Given the description of an element on the screen output the (x, y) to click on. 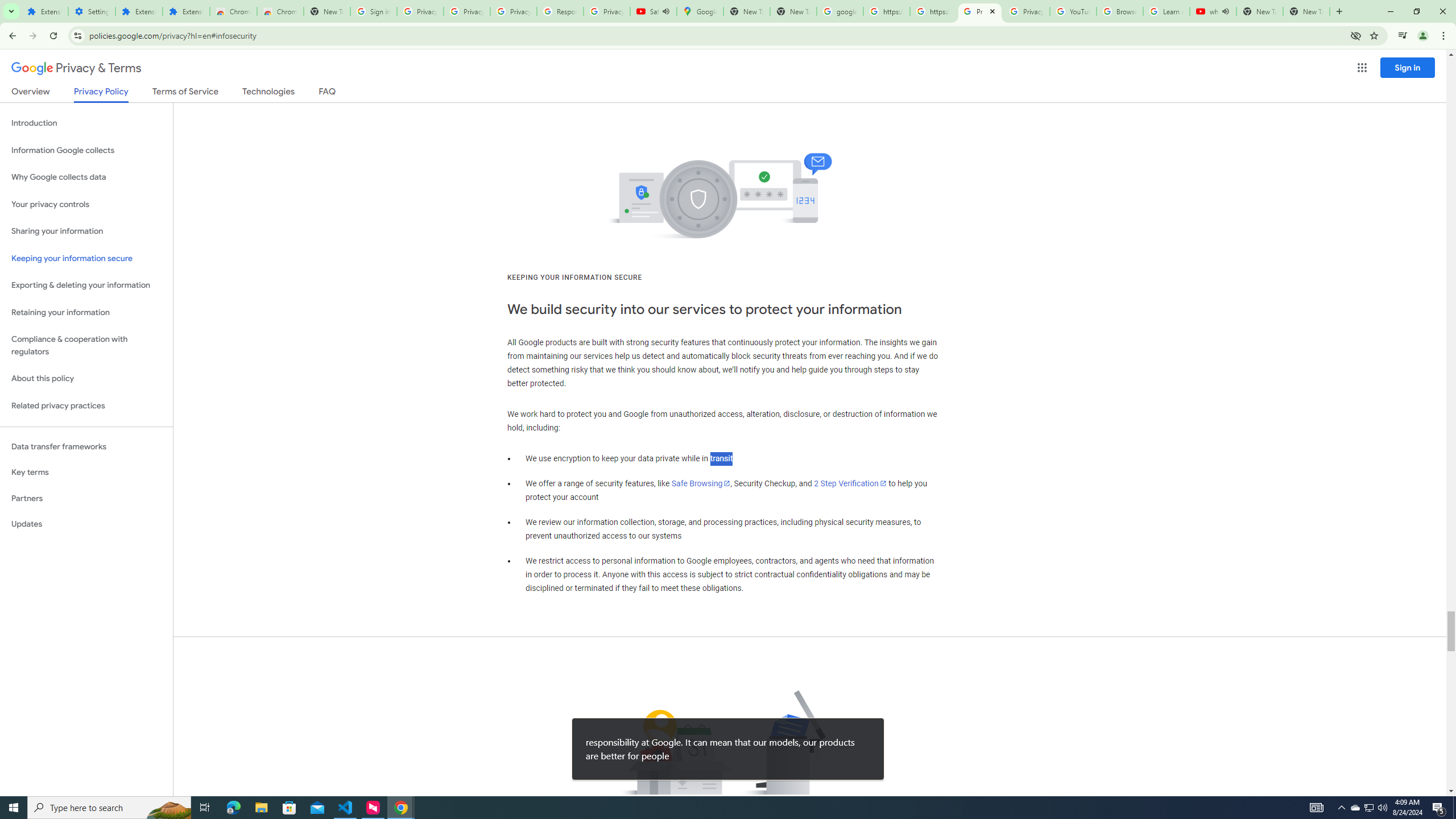
Browse Chrome as a guest - Computer - Google Chrome Help (1120, 11)
Chrome Web Store - Themes (279, 11)
Exporting & deleting your information (86, 284)
